Given the description of an element on the screen output the (x, y) to click on. 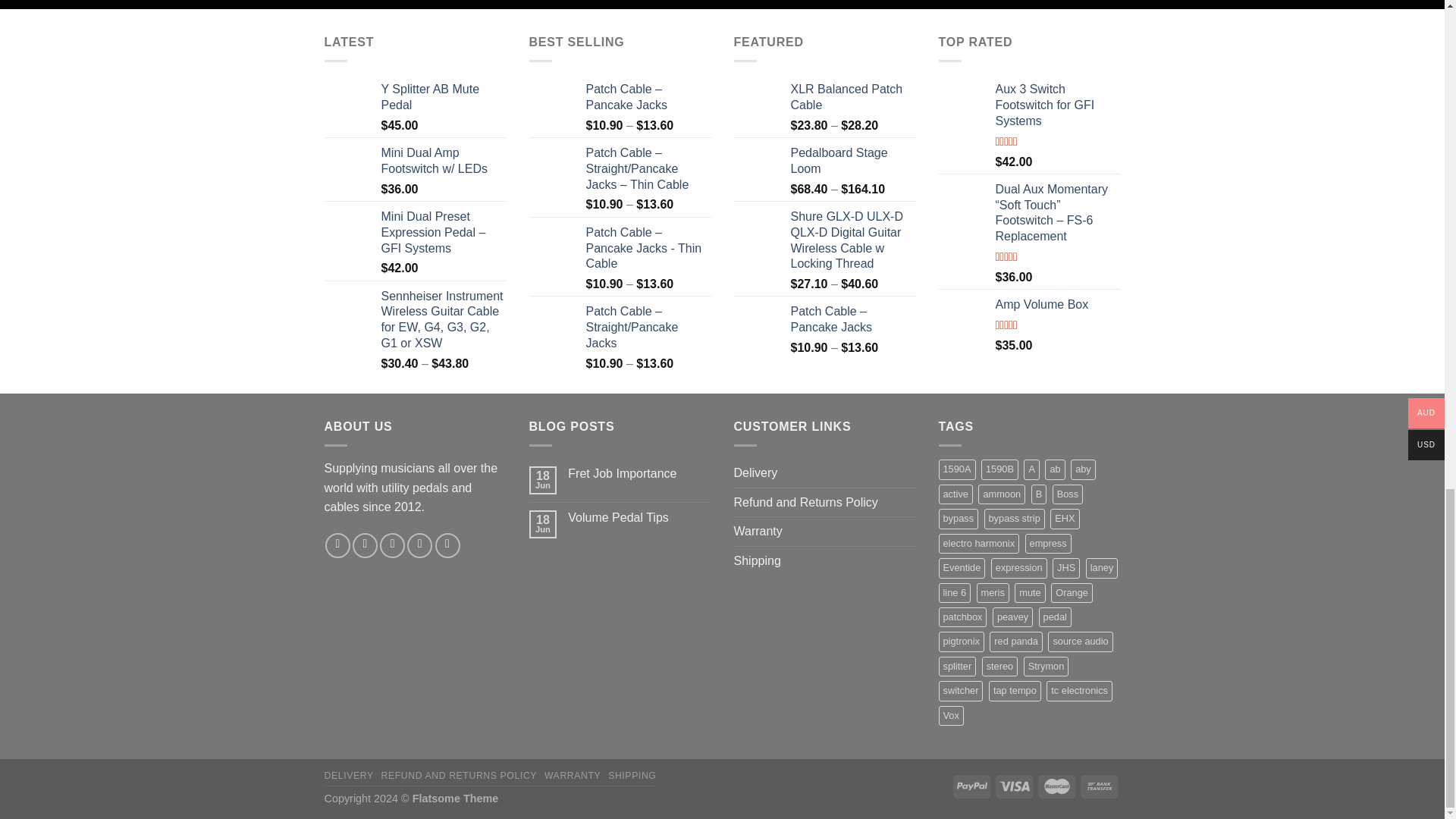
Follow on Instagram (364, 545)
Follow on Pinterest (447, 545)
Follow on Facebook (337, 545)
Fret Job Importance (638, 473)
Send us an email (419, 545)
Follow on Twitter (392, 545)
